Given the description of an element on the screen output the (x, y) to click on. 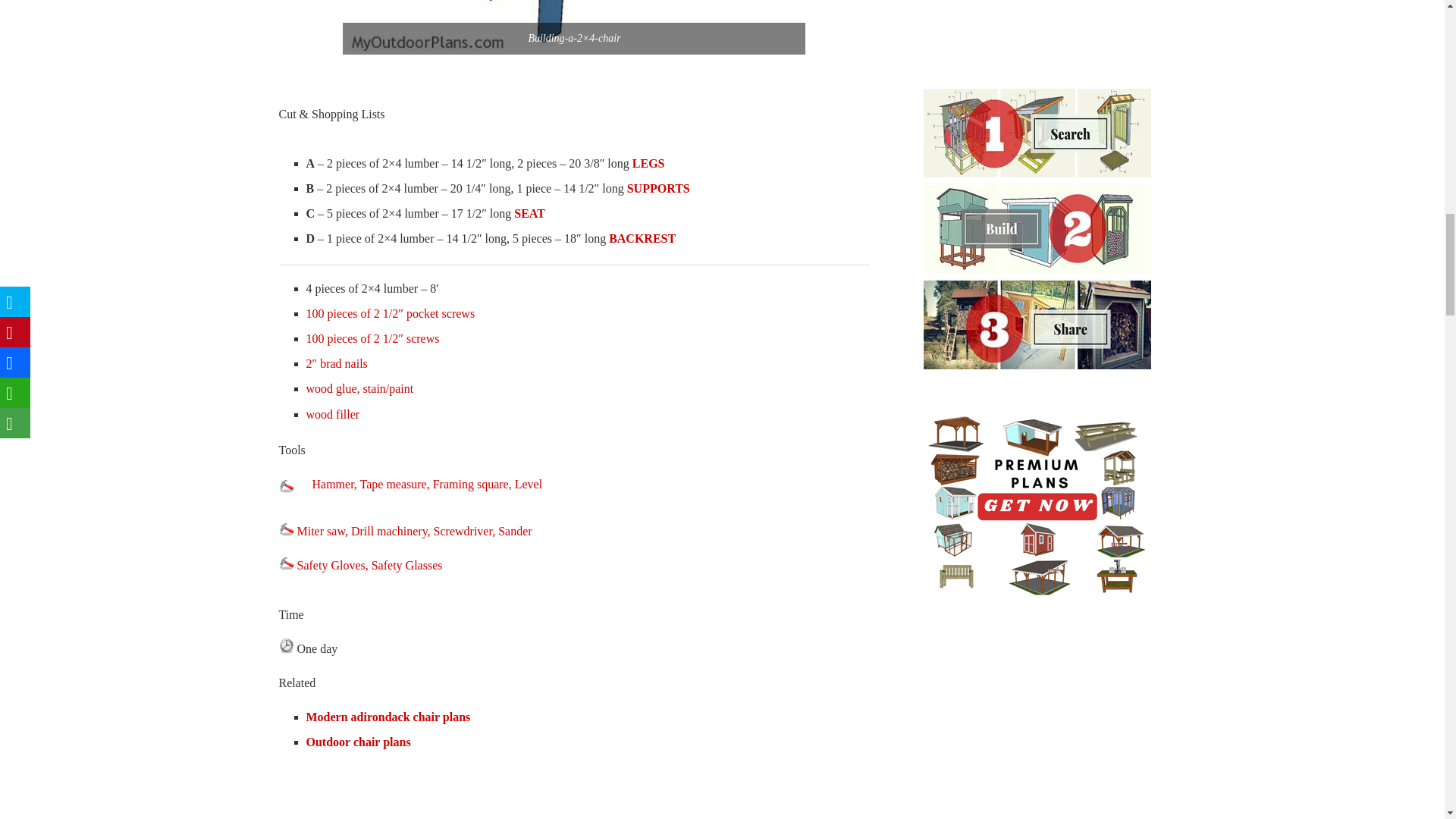
Tool (286, 528)
Modern adirondack chair plans (387, 716)
 Safety Gloves, Safety Glasses (360, 564)
Tool (286, 485)
wood filler (332, 413)
Hammer, Tape measure, Framing square, Level (428, 483)
Outdoor chair plans (357, 741)
 Miter saw, Drill machinery, Screwdriver, Sander (405, 530)
Time (286, 645)
Tool (286, 562)
